Given the description of an element on the screen output the (x, y) to click on. 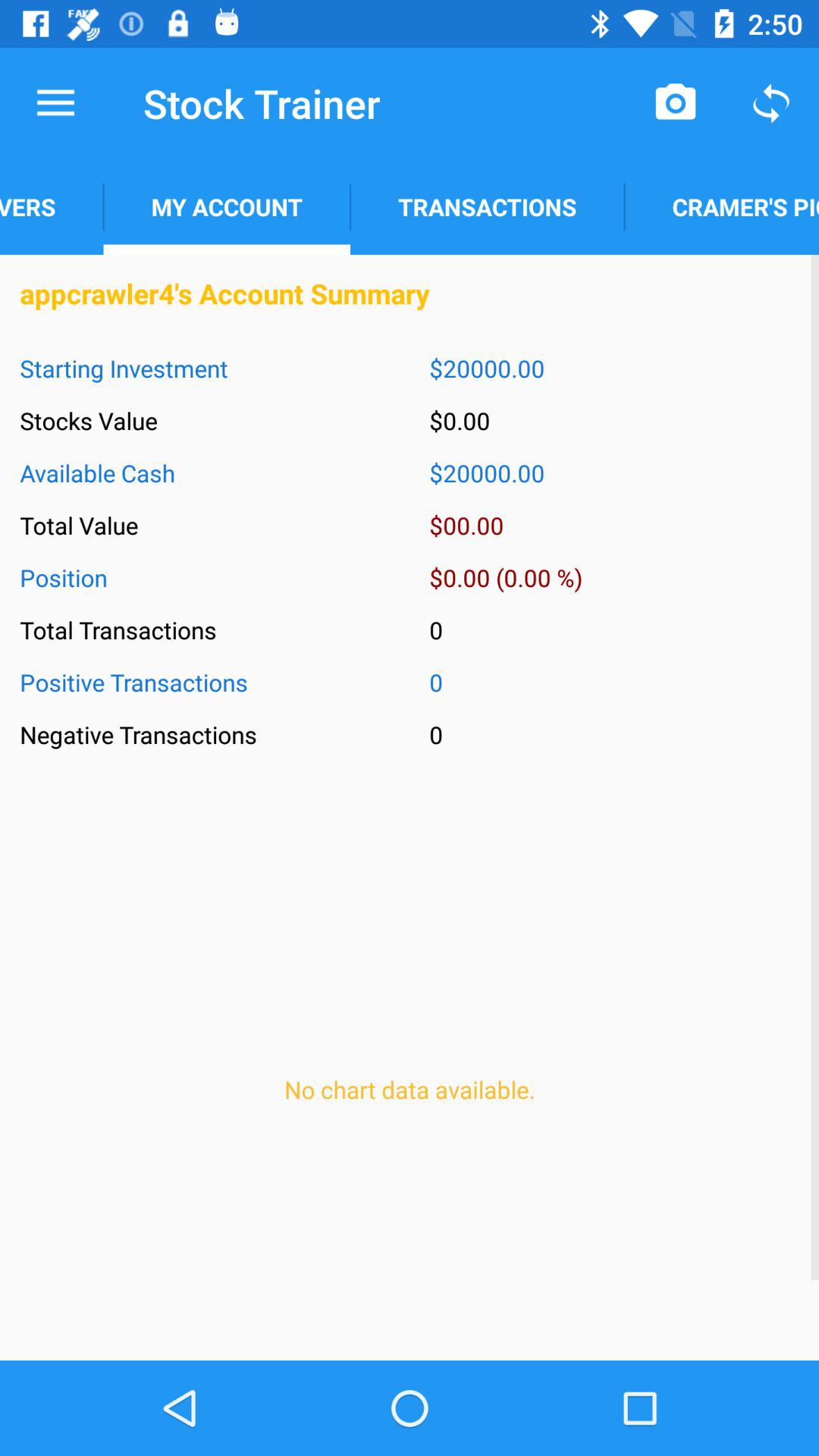
turn on the cramer's picks app (721, 206)
